Given the description of an element on the screen output the (x, y) to click on. 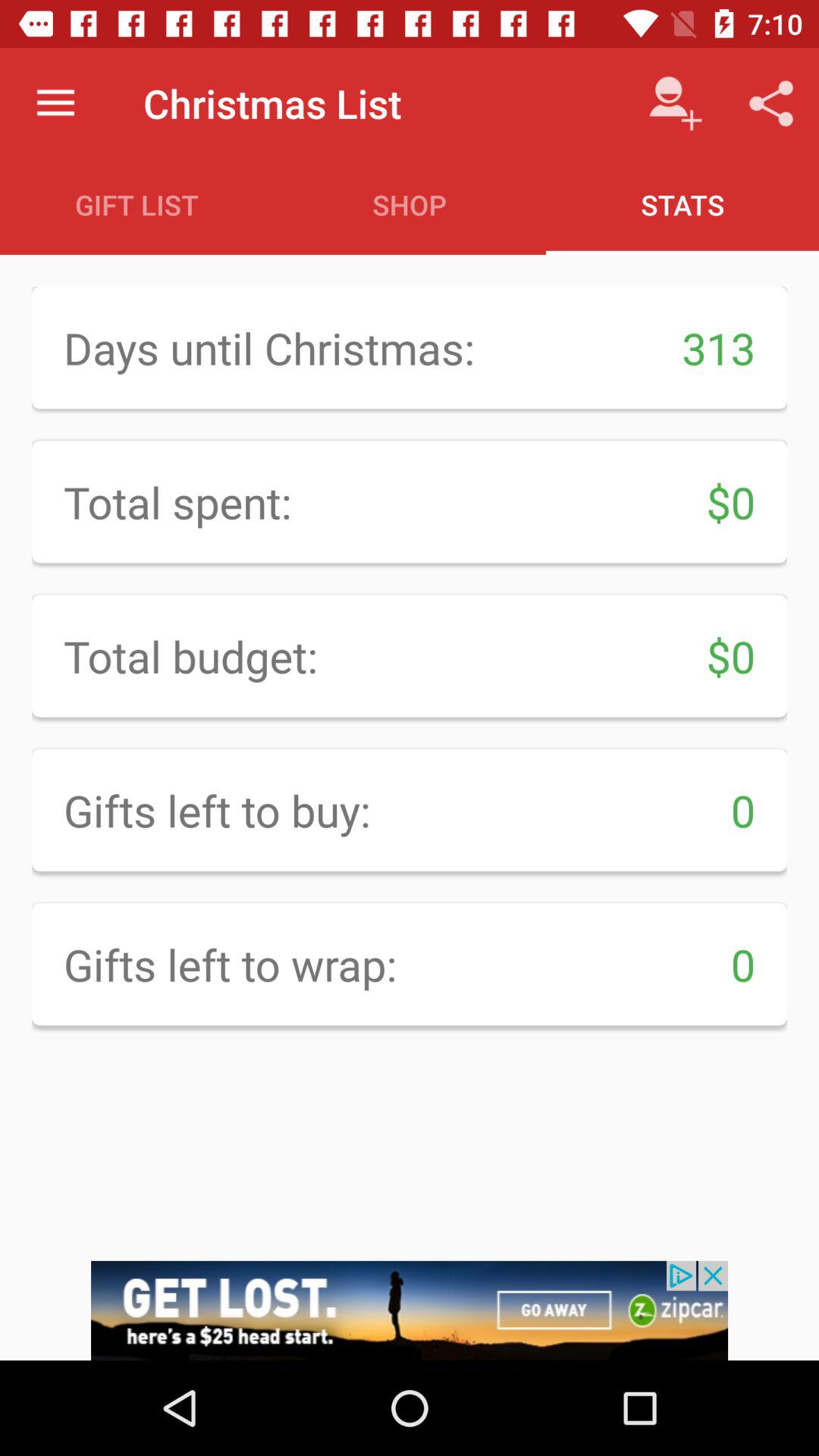
view advertisement (409, 1310)
